Given the description of an element on the screen output the (x, y) to click on. 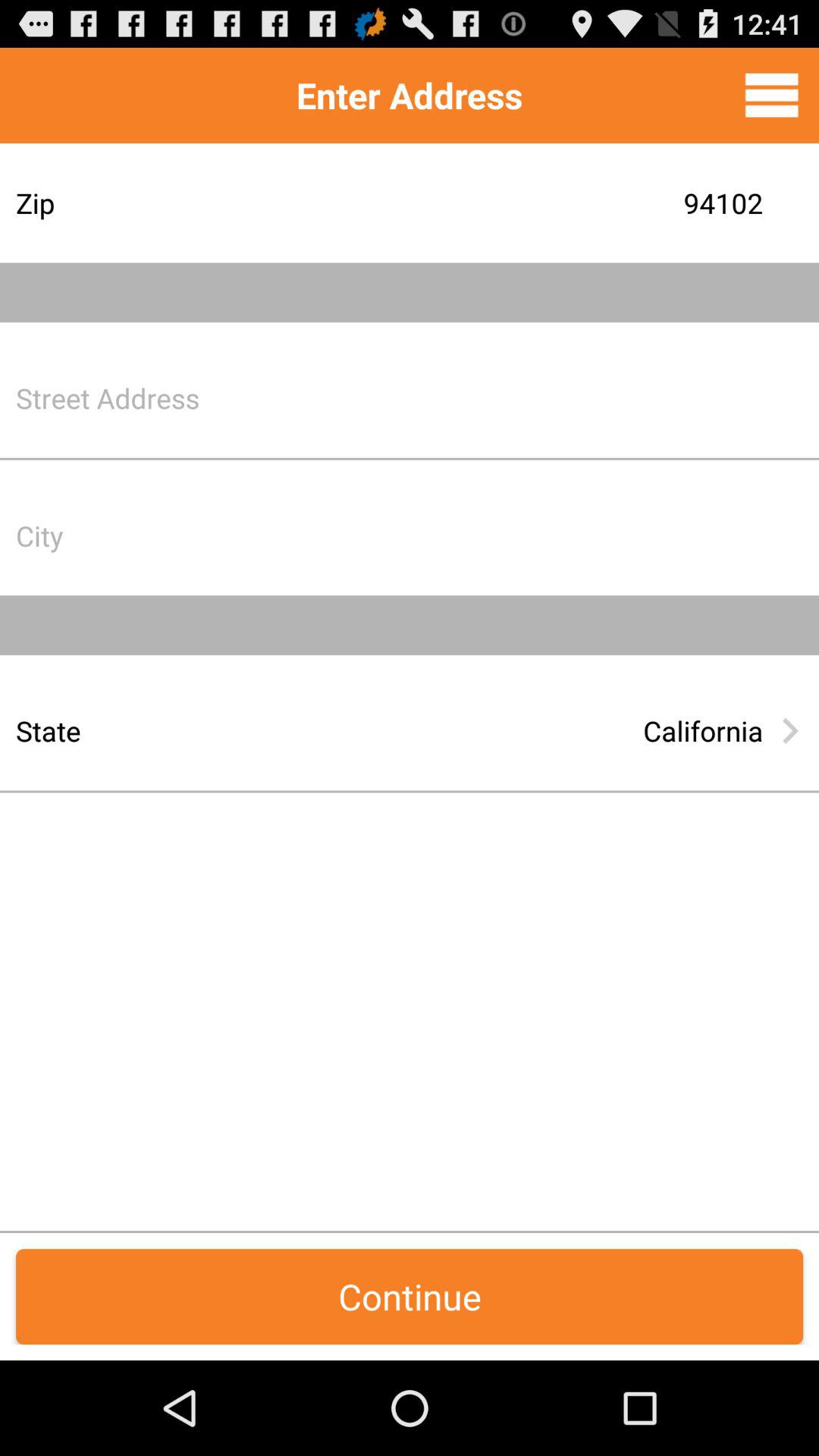
put the address (527, 397)
